Given the description of an element on the screen output the (x, y) to click on. 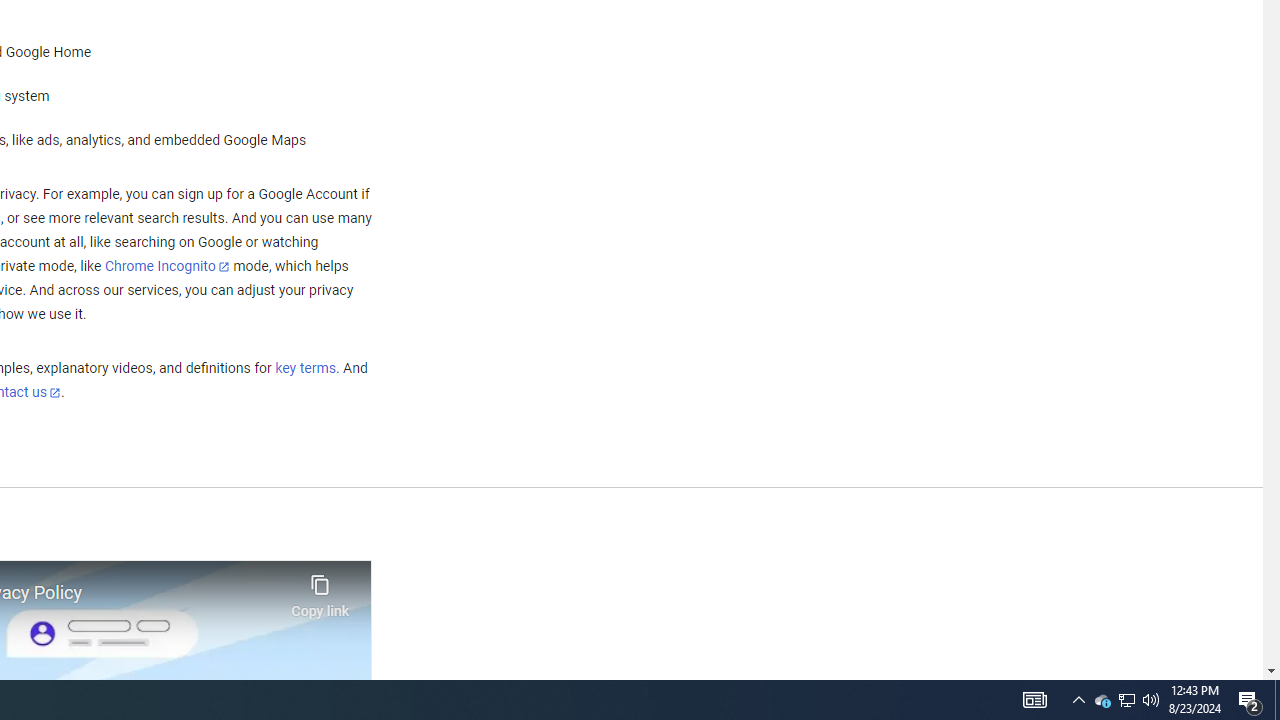
Chrome Incognito (166, 266)
Copy link (319, 591)
key terms (305, 369)
